Given the description of an element on the screen output the (x, y) to click on. 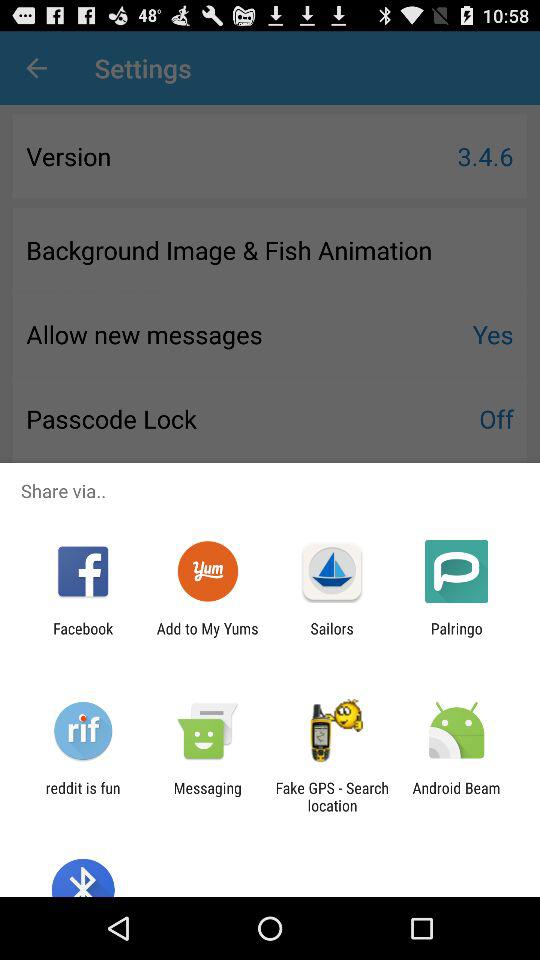
press item to the right of add to my app (331, 637)
